Given the description of an element on the screen output the (x, y) to click on. 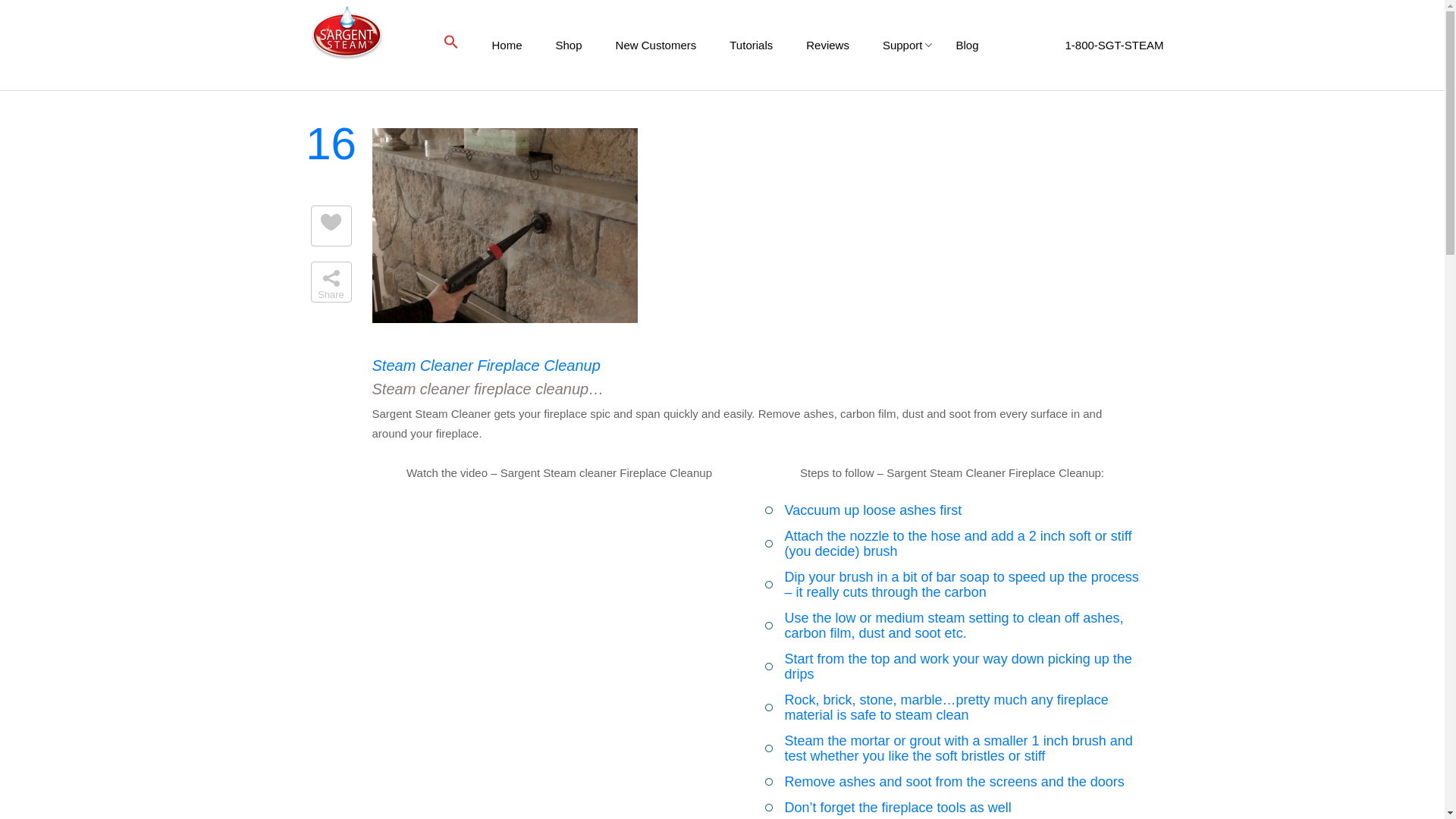
3 (330, 230)
Reviews (827, 45)
1-800-SGT-STEAM (1086, 45)
New Customers (655, 45)
Steam Cleaner Fireplace Cleanup (485, 365)
Steam Cleaner Fireplace Cleanup (504, 318)
Tutorials (751, 45)
Home (506, 45)
Support (902, 45)
Blog (966, 45)
Steam Cleaner Fireplace Cleanup (485, 365)
Like this (330, 230)
Shop (568, 45)
